Given the description of an element on the screen output the (x, y) to click on. 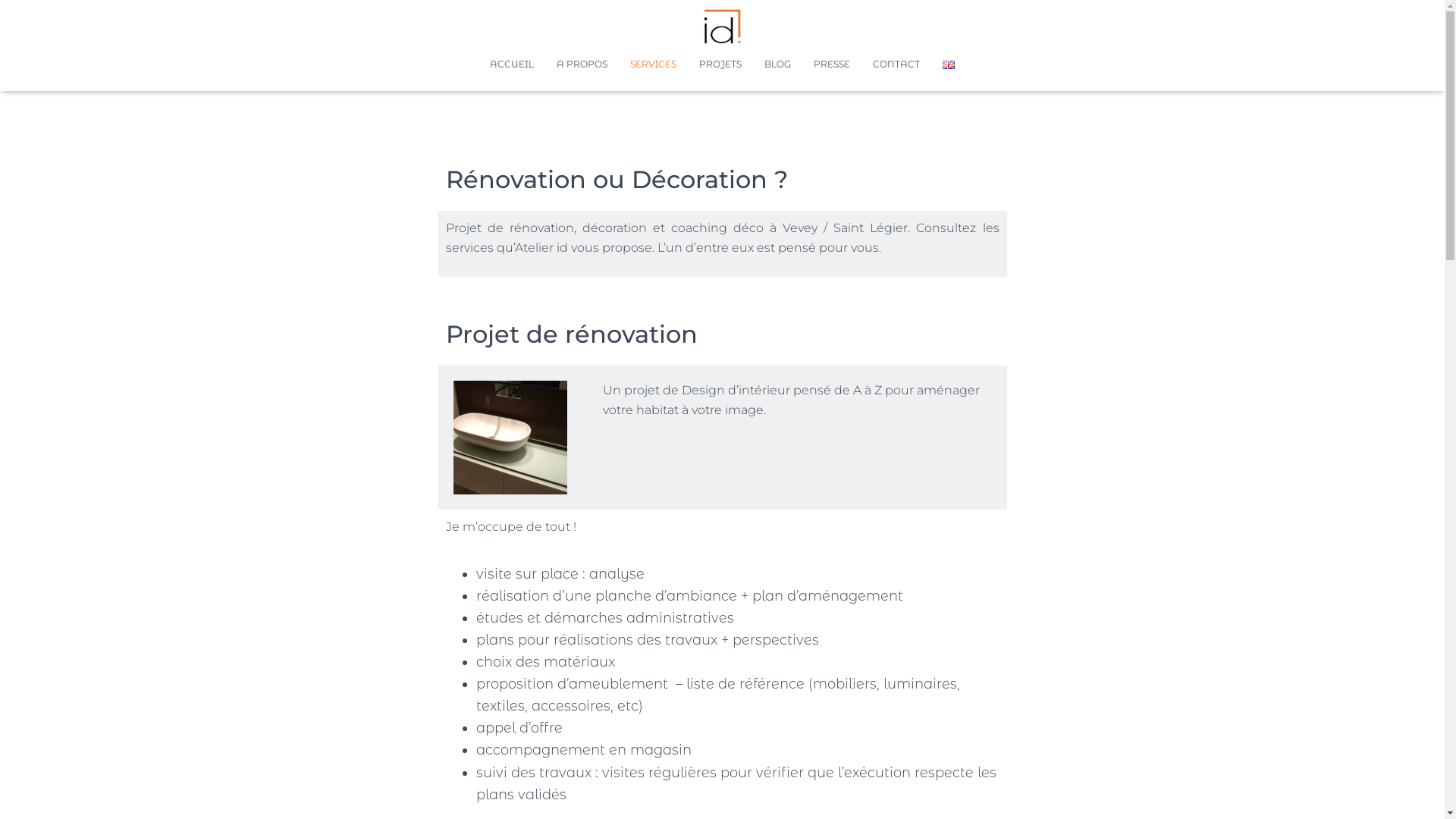
PROJETS Element type: text (720, 64)
PRESSE Element type: text (831, 64)
SERVICES Element type: text (652, 64)
A PROPOS Element type: text (581, 64)
BLOG Element type: text (777, 64)
ACCUEIL Element type: text (511, 64)
CONTACT Element type: text (896, 64)
Atelier id Element type: hover (722, 26)
